Given the description of an element on the screen output the (x, y) to click on. 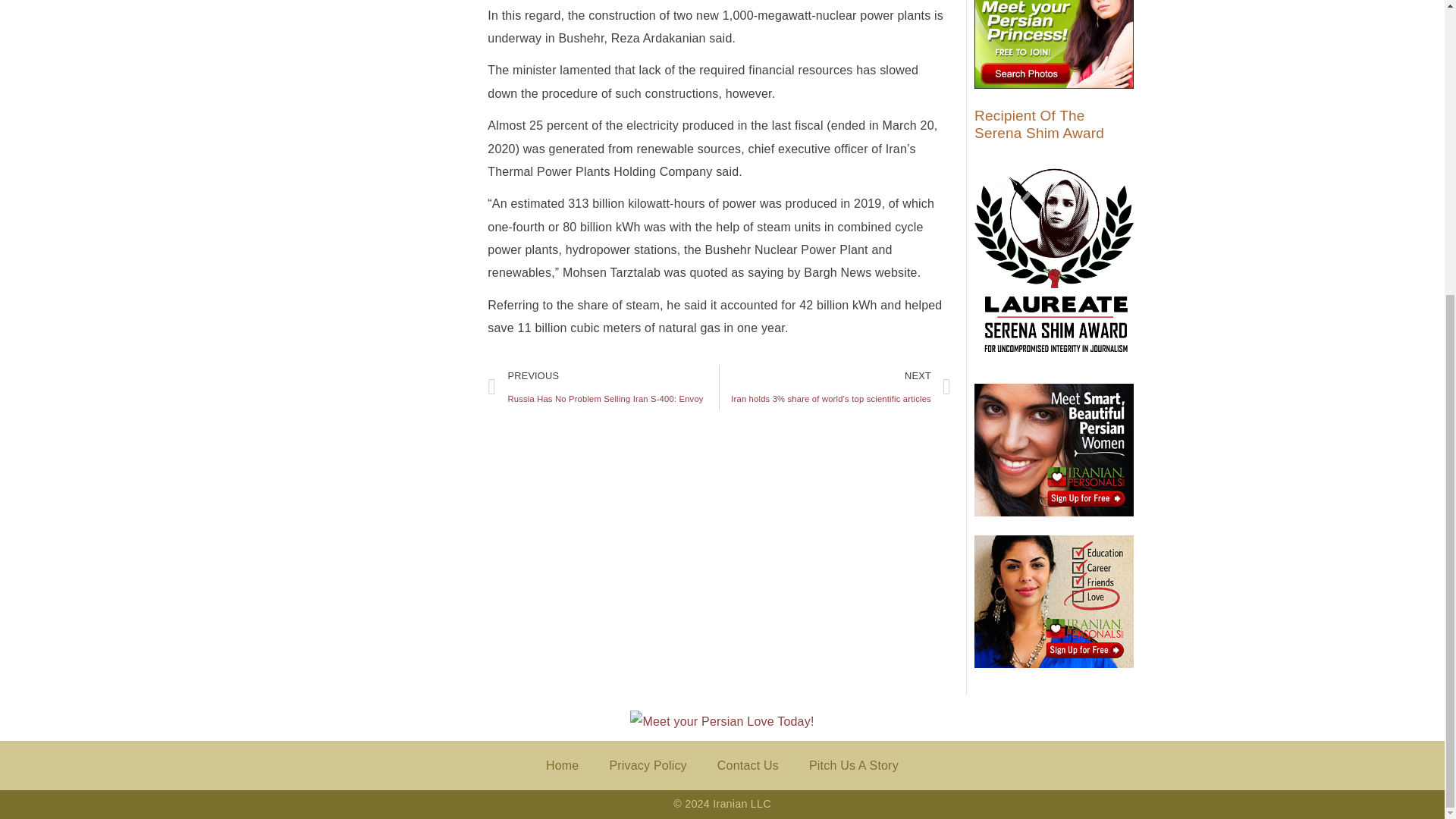
Home (562, 765)
Pitch Us A Story (603, 387)
Contact Us (853, 765)
Privacy Policy (747, 765)
